Given the description of an element on the screen output the (x, y) to click on. 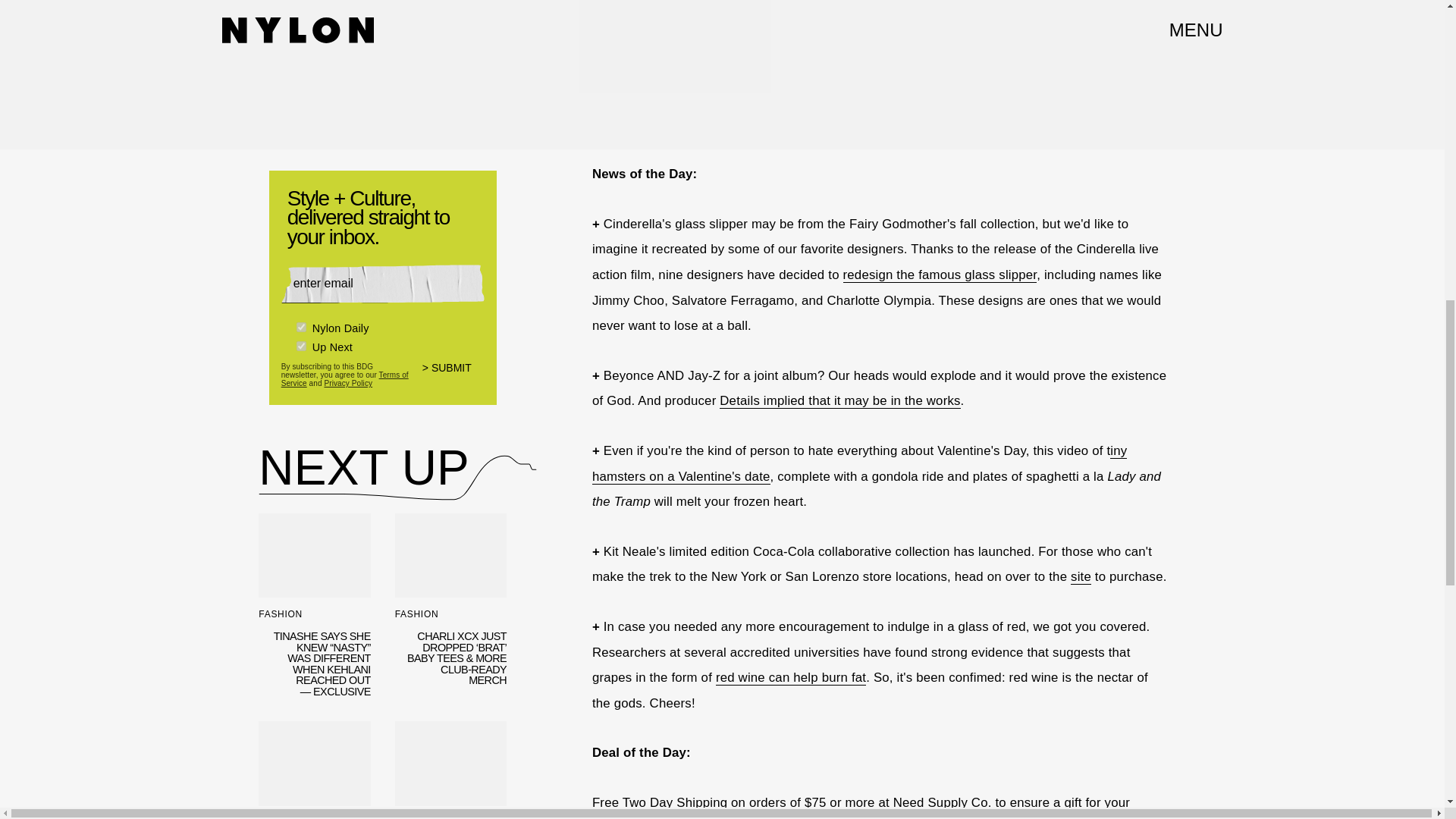
redesign the famous glass slipper (939, 274)
Terms of Service (345, 379)
Privacy Policy (347, 383)
SUBMIT (453, 377)
Details implied that it may be in the works (839, 400)
site (1080, 576)
iny hamsters on a Valentine's date (859, 463)
red wine can help burn fat (791, 677)
Need Supply Co. (942, 802)
